Given the description of an element on the screen output the (x, y) to click on. 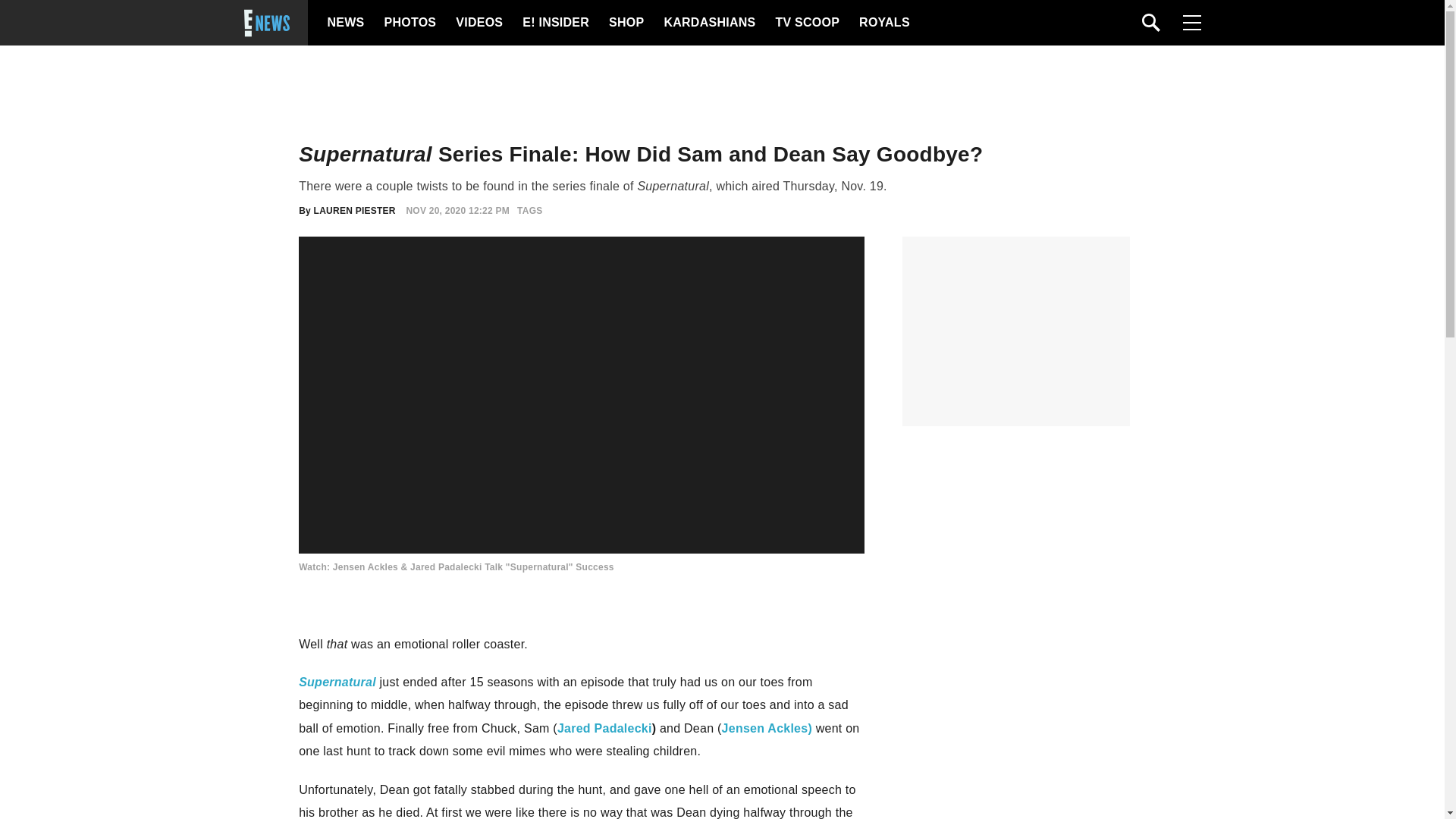
E! INSIDER (555, 22)
LAUREN PIESTER (355, 210)
TV SCOOP (806, 22)
SHOP (625, 22)
PHOTOS (408, 22)
Jared Padalecki (604, 727)
NEWS (345, 22)
ROYALS (883, 22)
Supernatural (336, 681)
KARDASHIANS (708, 22)
